Given the description of an element on the screen output the (x, y) to click on. 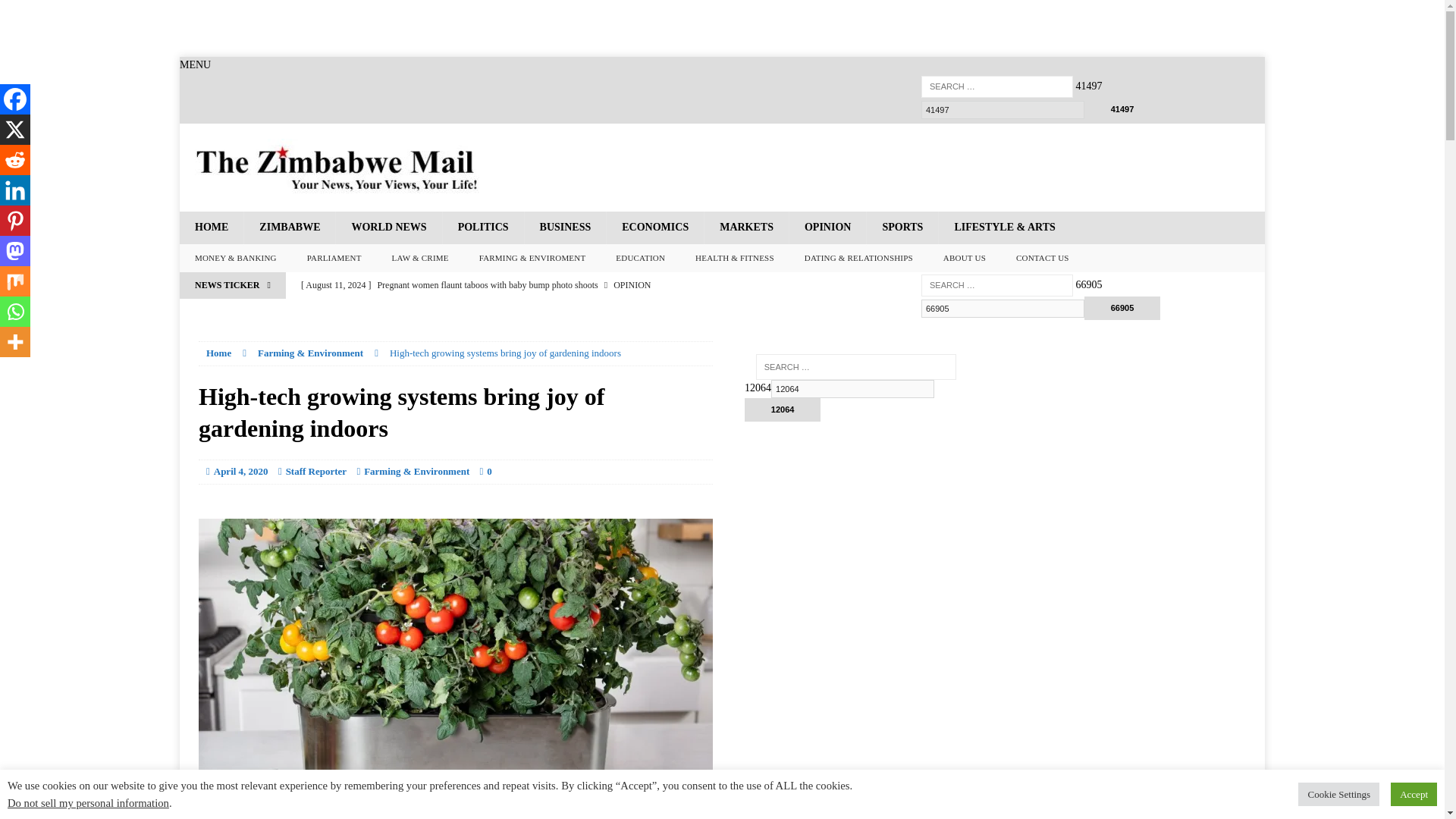
41497 (1122, 109)
41497 (1122, 109)
SPORTS (901, 227)
66905 (1002, 308)
HOME (211, 227)
66905 (1122, 308)
CONTACT US (1042, 258)
MARKETS (746, 227)
Search (37, 11)
ECONOMICS (654, 227)
